Given the description of an element on the screen output the (x, y) to click on. 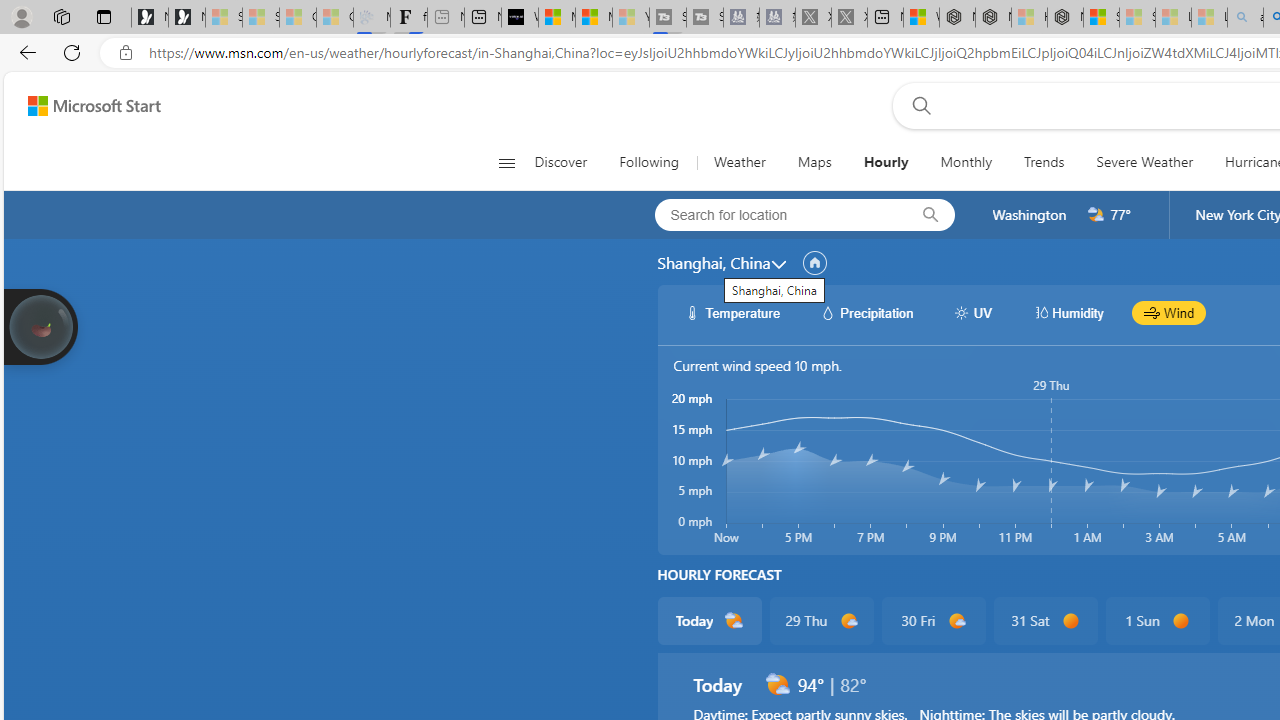
locationName/setHomeLocation (813, 263)
hourlyChart/uvWhite (961, 312)
Monthly (966, 162)
d1000 (956, 621)
Hourly (886, 162)
30 Fri d1000 (932, 620)
Trends (1044, 162)
